Given the description of an element on the screen output the (x, y) to click on. 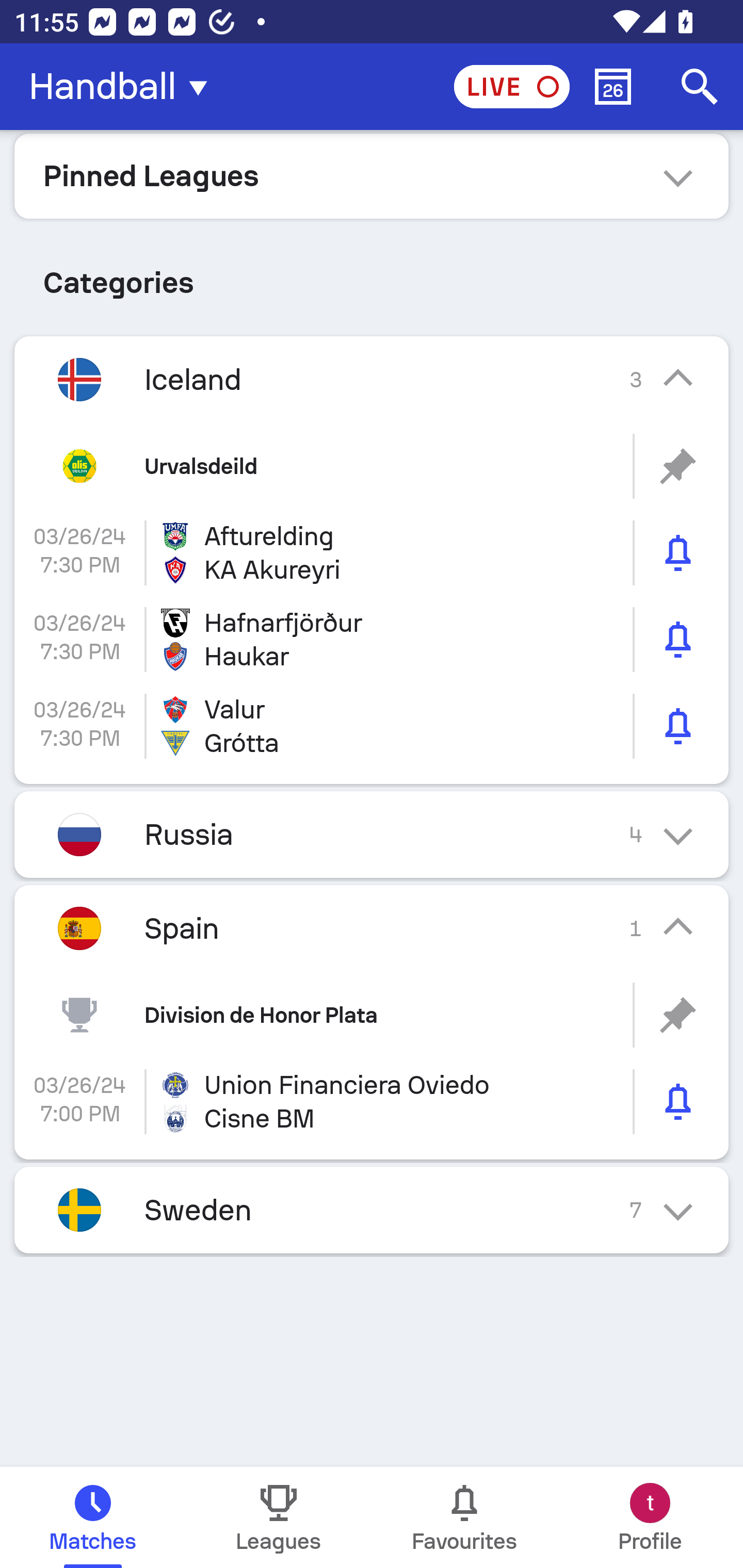
Handball (124, 86)
Calendar (612, 86)
Search (699, 86)
Pinned Leagues (371, 175)
Categories (371, 275)
Iceland 3 (371, 379)
Urvalsdeild (371, 466)
03/26/24 7:30 PM Afturelding KA Akureyri (371, 552)
03/26/24 7:30 PM Hafnarfjörður Haukar (371, 639)
03/26/24 7:30 PM Valur Grótta (371, 726)
Russia 4 (371, 834)
Spain 1 (371, 928)
Division de Honor Plata (371, 1015)
03/26/24 7:00 PM Union Financiera Oviedo Cisne BM (371, 1101)
Sweden 7 (371, 1209)
Leagues (278, 1517)
Favourites (464, 1517)
Profile (650, 1517)
